Given the description of an element on the screen output the (x, y) to click on. 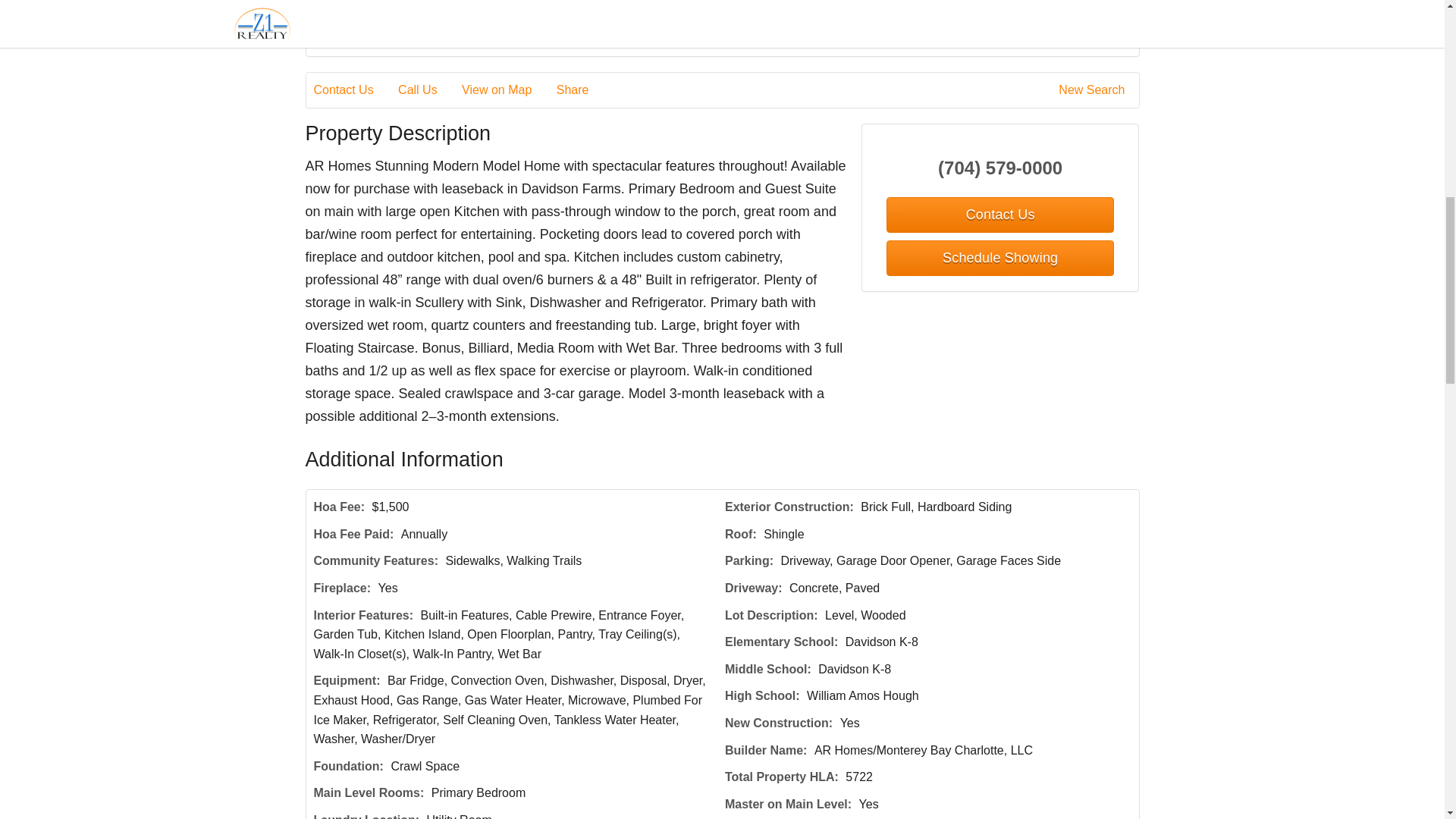
Share (583, 89)
View on Map (507, 89)
New Search (1094, 89)
Call Us (427, 89)
Contact Us (354, 89)
Contact Us (999, 214)
